Given the description of an element on the screen output the (x, y) to click on. 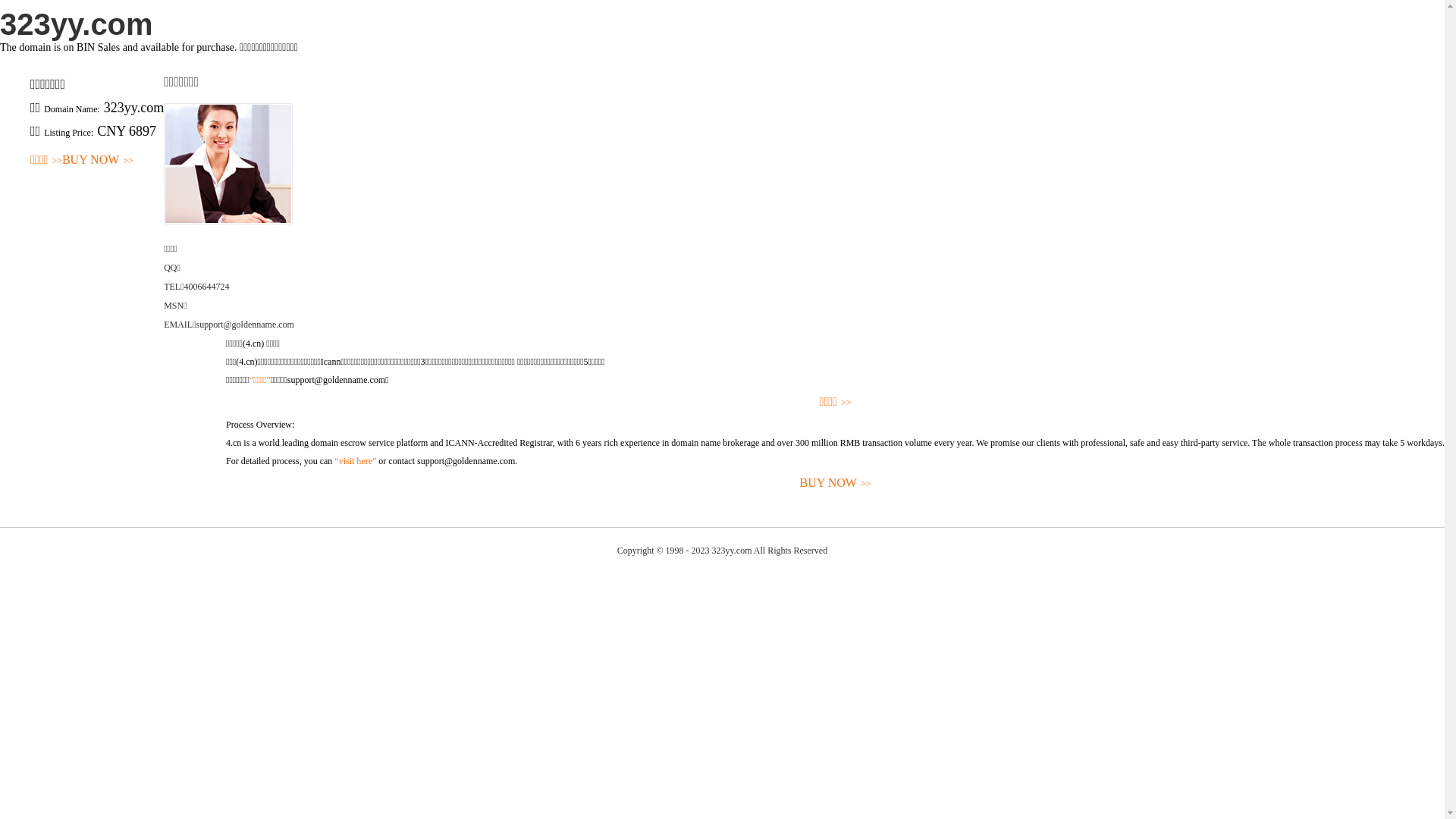
BUY NOW>> Element type: text (97, 160)
BUY NOW>> Element type: text (834, 483)
